Given the description of an element on the screen output the (x, y) to click on. 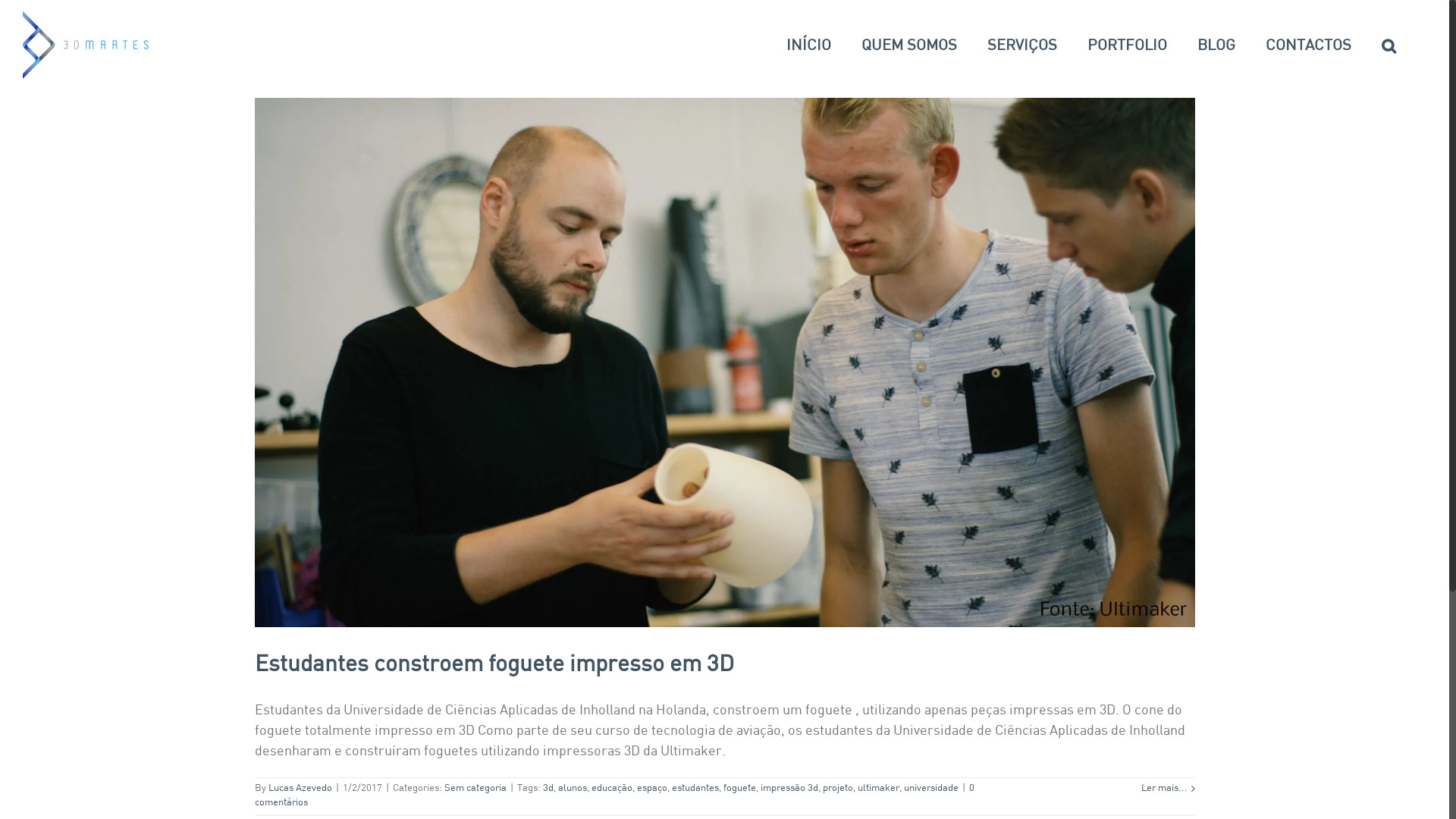
QUEM SOMOS Element type: text (909, 45)
foguete Element type: text (739, 788)
estudantes Element type: text (694, 788)
alunos Element type: text (572, 788)
Rocket2 Rocket2 Element type: hover (724, 362)
Lucas Azevedo Element type: text (300, 788)
Pesquisar Element type: hover (1388, 45)
projeto Element type: text (837, 788)
universidade Element type: text (930, 788)
BLOG Element type: text (1216, 45)
PORTFOLIO Element type: text (1127, 45)
Estudantes constroem foguete impresso em 3D Element type: text (494, 665)
3d Element type: text (547, 788)
ultimaker Element type: text (877, 788)
Ler mais... Element type: text (1163, 788)
CONTACTOS Element type: text (1308, 45)
Sem categoria Element type: text (475, 788)
